Given the description of an element on the screen output the (x, y) to click on. 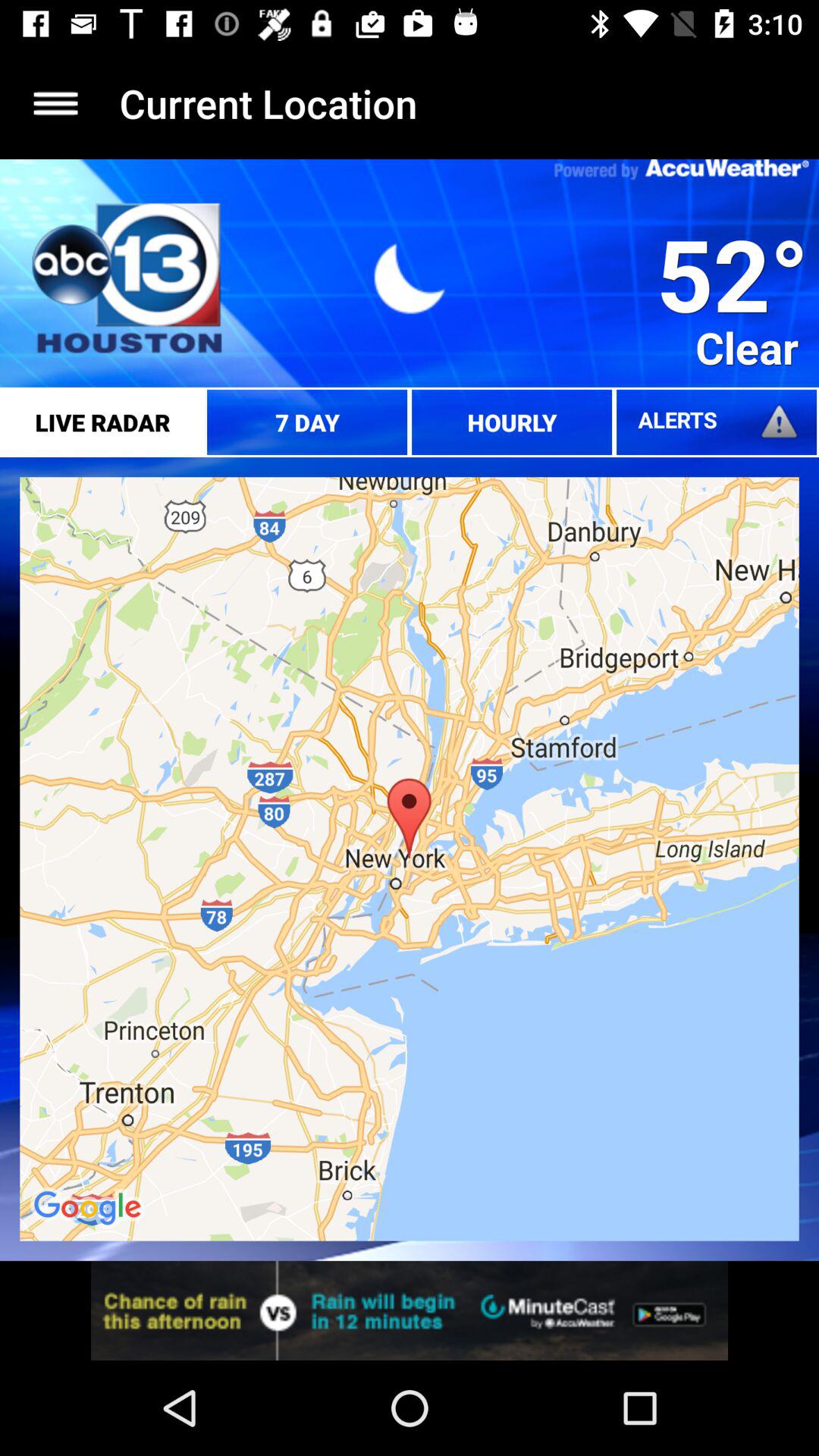
open advertisement (409, 1310)
